Given the description of an element on the screen output the (x, y) to click on. 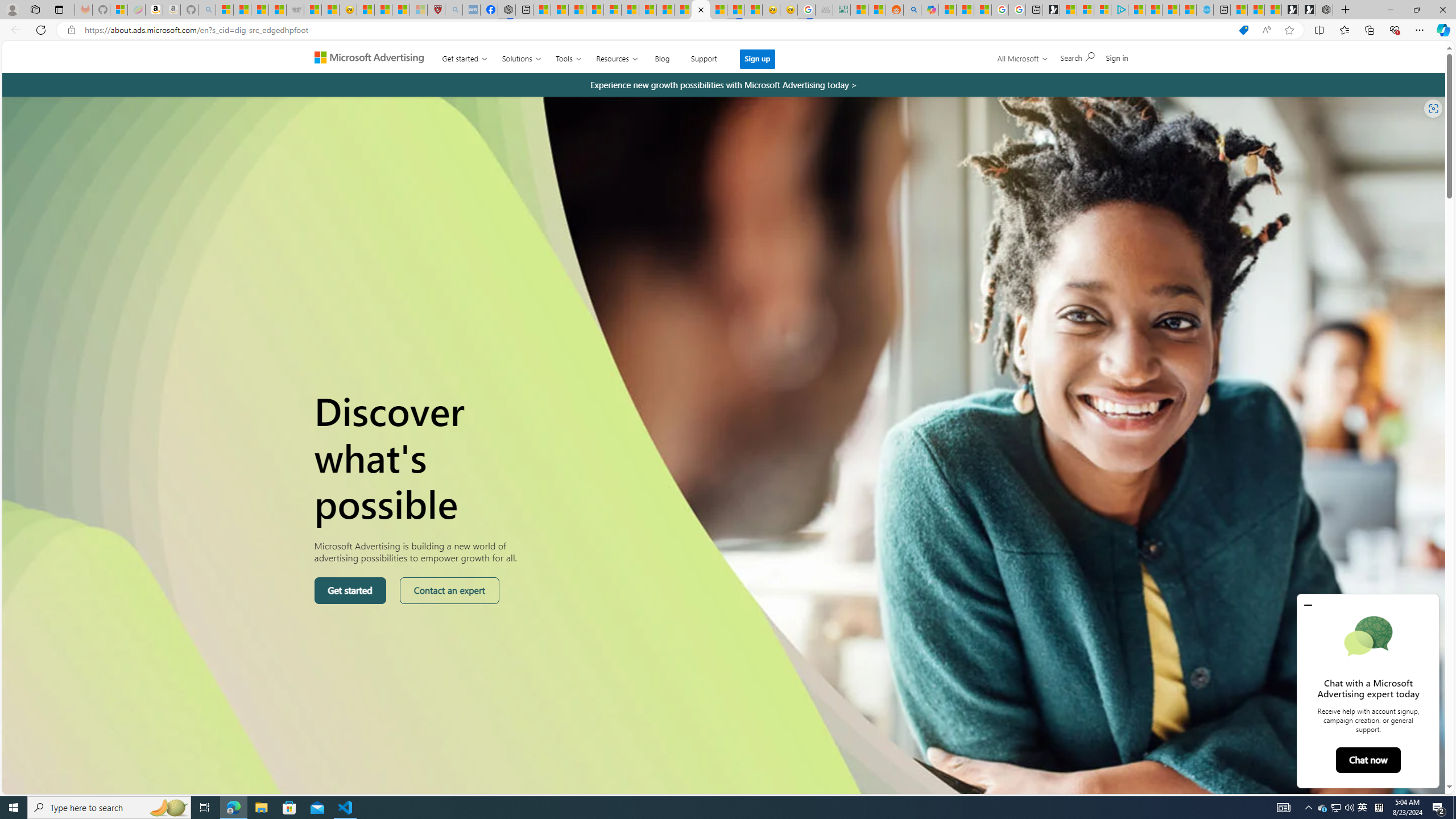
Navy Quest (823, 9)
Microsoft Start Gaming (1051, 9)
NCL Adult Asthma Inhaler Choice Guideline - Sleeping (470, 9)
No, thanks (1045, 62)
Robert H. Shmerling, MD - Harvard Health (435, 9)
